Given the description of an element on the screen output the (x, y) to click on. 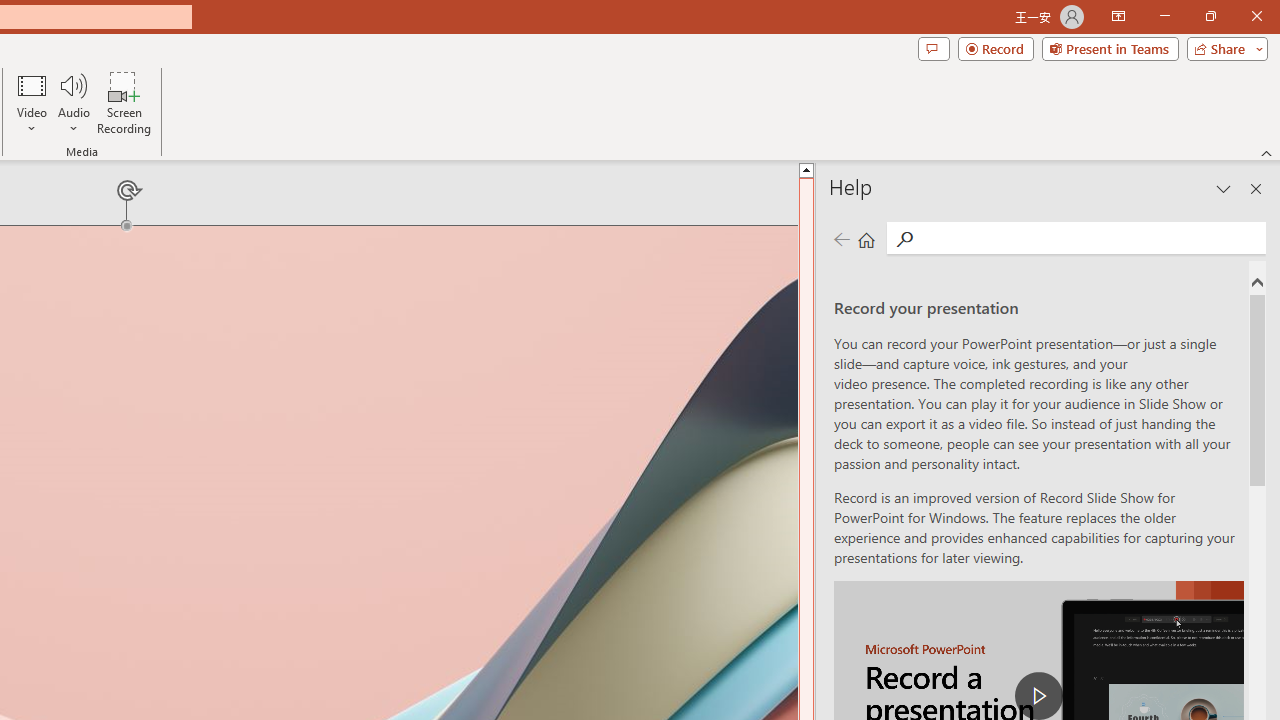
Video (31, 102)
play Record a Presentation (1038, 695)
Previous page (841, 238)
